Given the description of an element on the screen output the (x, y) to click on. 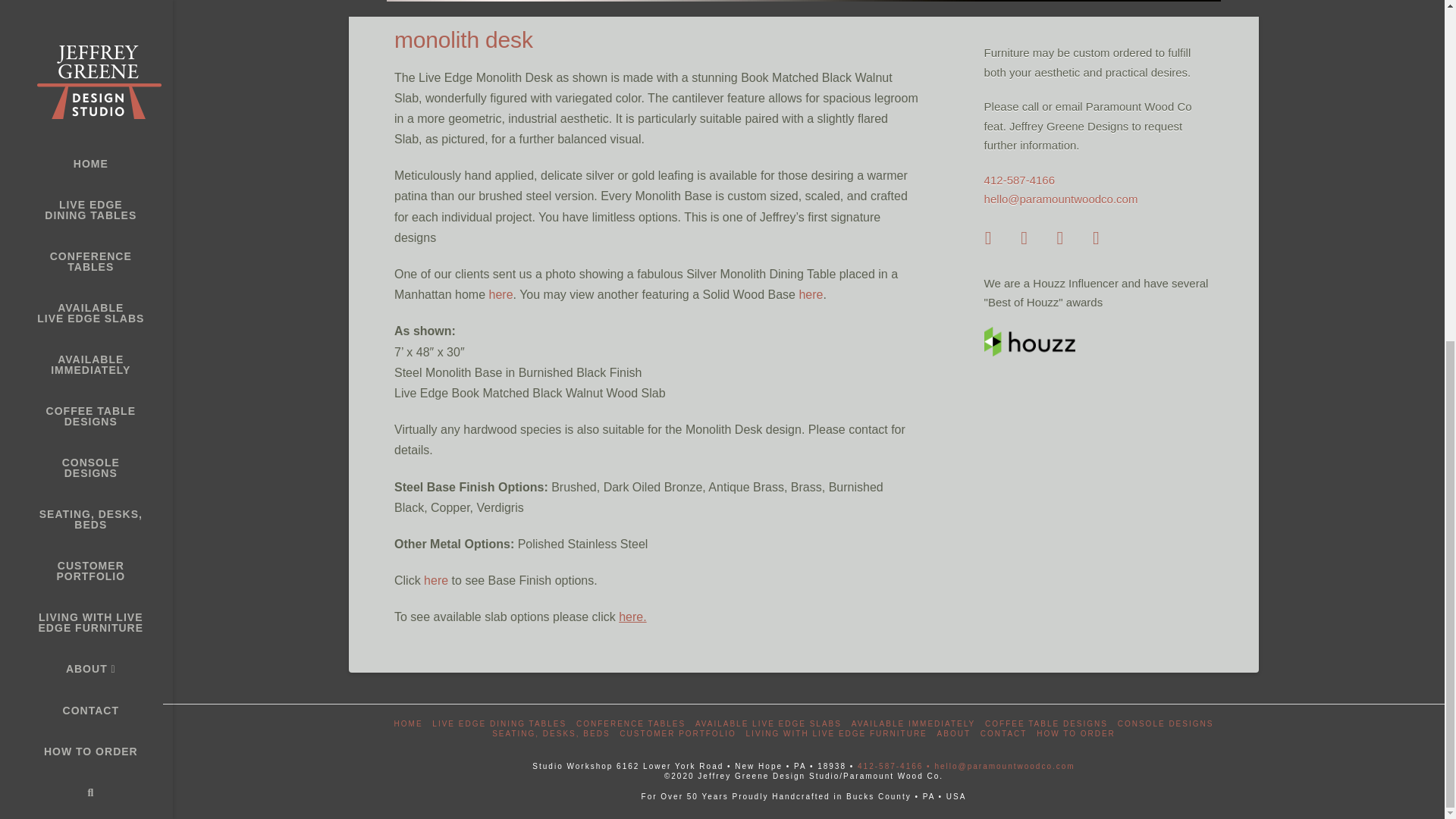
here (809, 294)
HOW TO ORDER (86, 170)
ABOUT (86, 88)
CONTACT (86, 129)
CUSTOMER PORTFOLIO (86, 8)
here (501, 294)
LIVING WITH LIVE EDGE FURNITURE (86, 41)
here. (632, 616)
here (435, 580)
Share via Email (1109, 237)
